Given the description of an element on the screen output the (x, y) to click on. 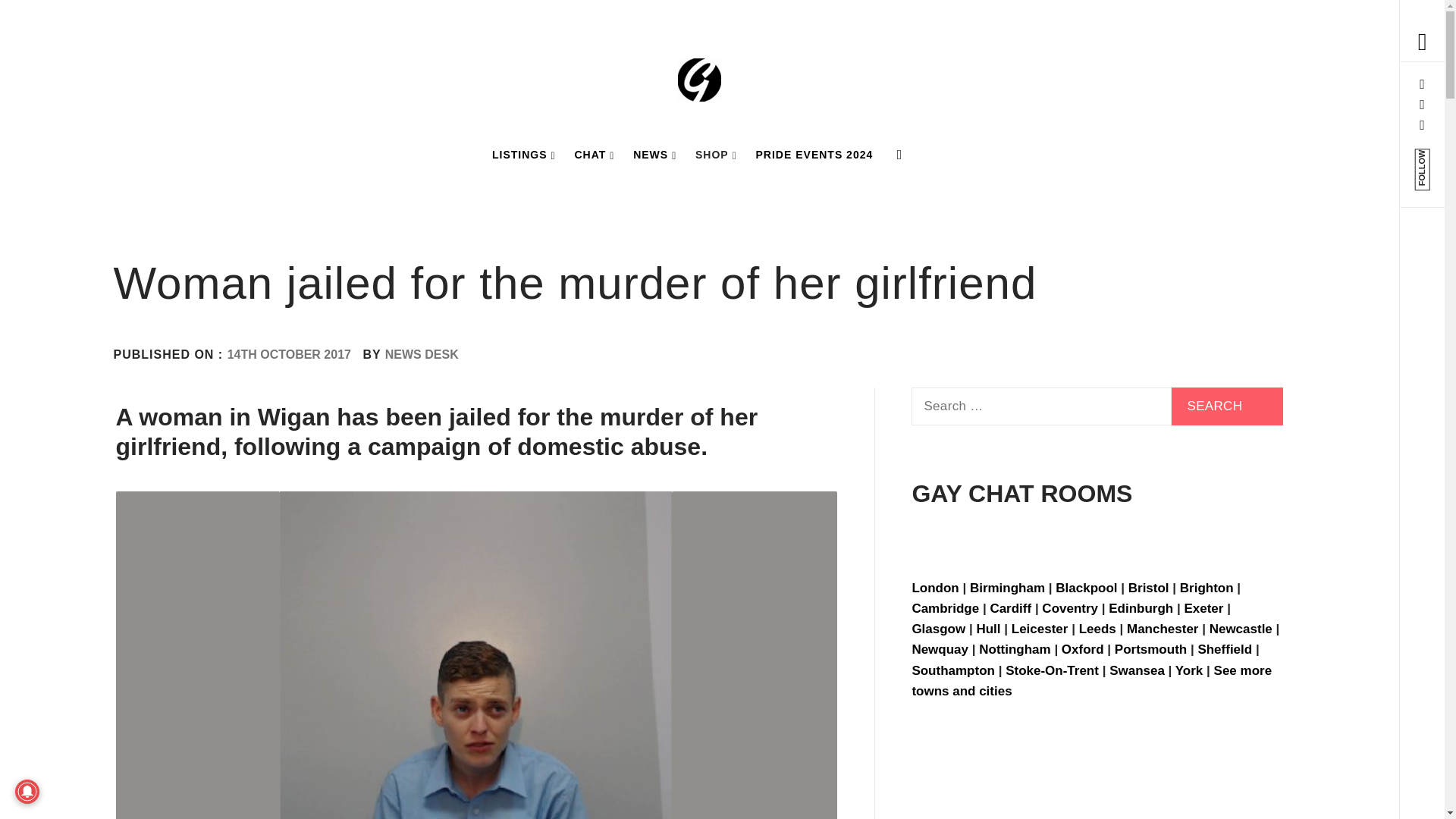
14TH OCTOBER 2017 (288, 354)
NEWS DESK (421, 354)
SHOP (715, 154)
Search (1227, 406)
NEWS (655, 154)
Search (1227, 406)
PRIDE EVENTS 2024 (814, 154)
Search (646, 37)
LISTINGS (523, 154)
CHAT (593, 154)
